Given the description of an element on the screen output the (x, y) to click on. 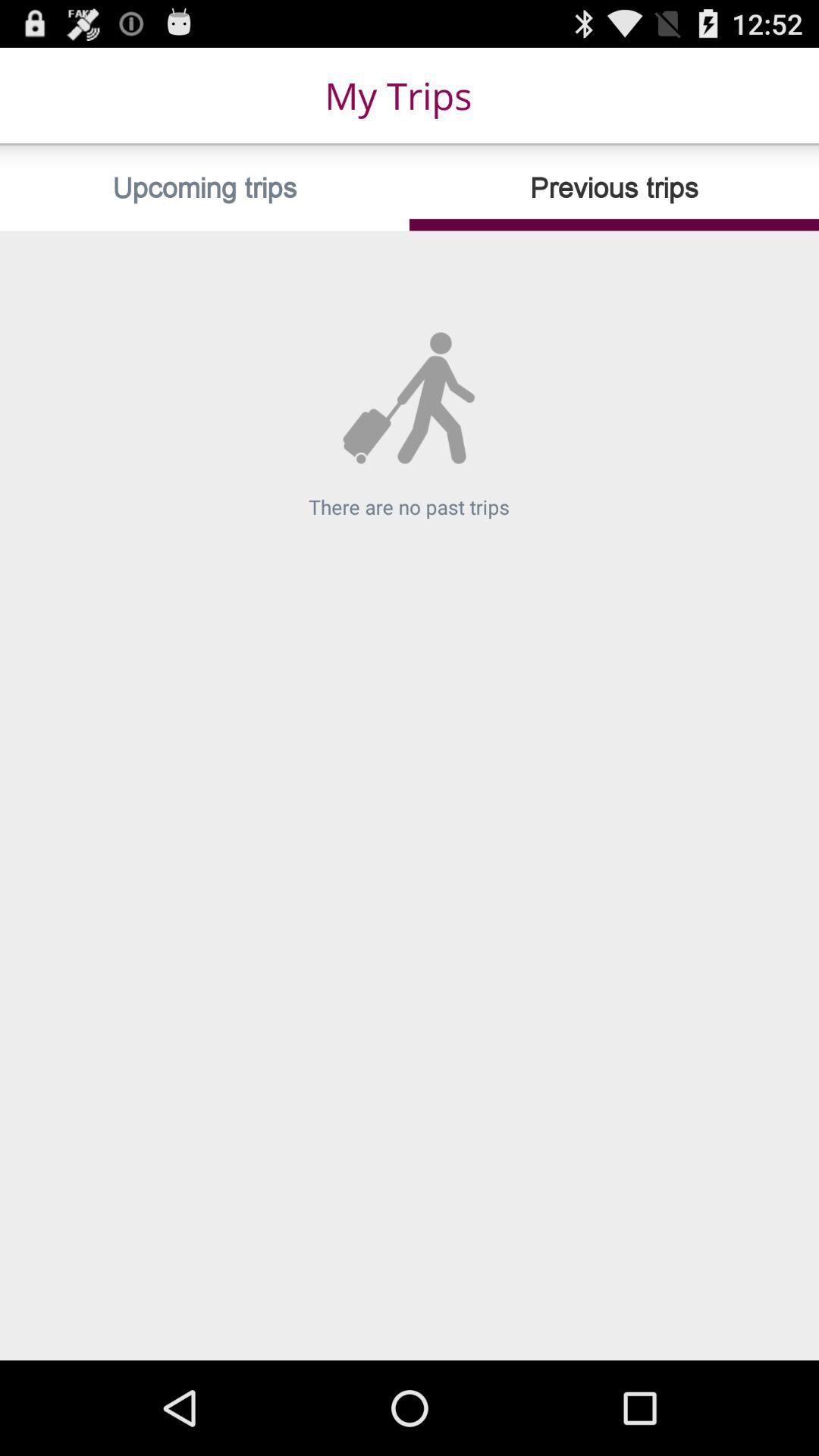
choose item to the right of upcoming trips item (614, 187)
